Given the description of an element on the screen output the (x, y) to click on. 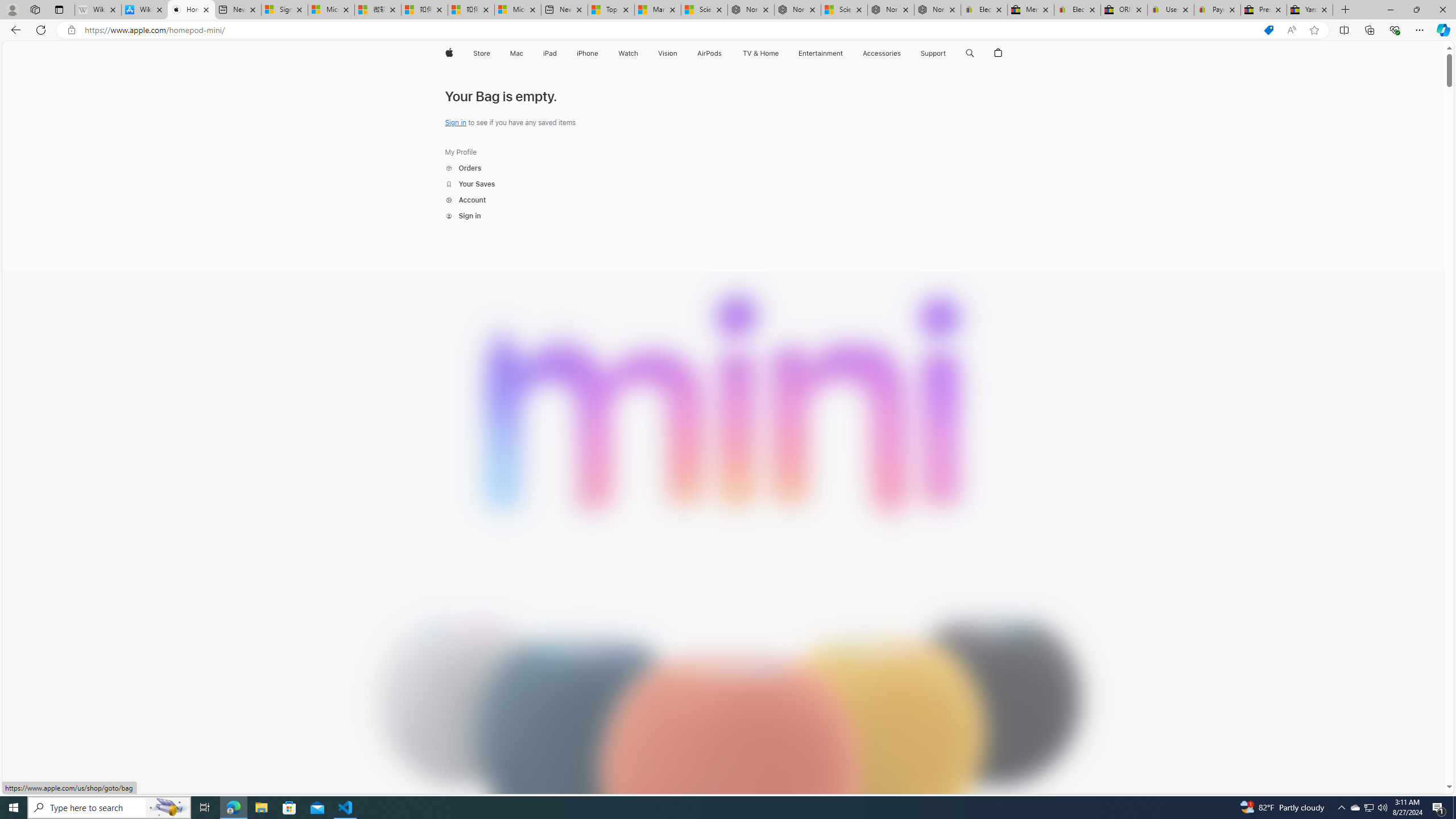
Support (932, 53)
Accessories menu (903, 53)
Apple (448, 53)
iPhone menu (600, 53)
Vision (667, 53)
TV and Home (759, 53)
